Given the description of an element on the screen output the (x, y) to click on. 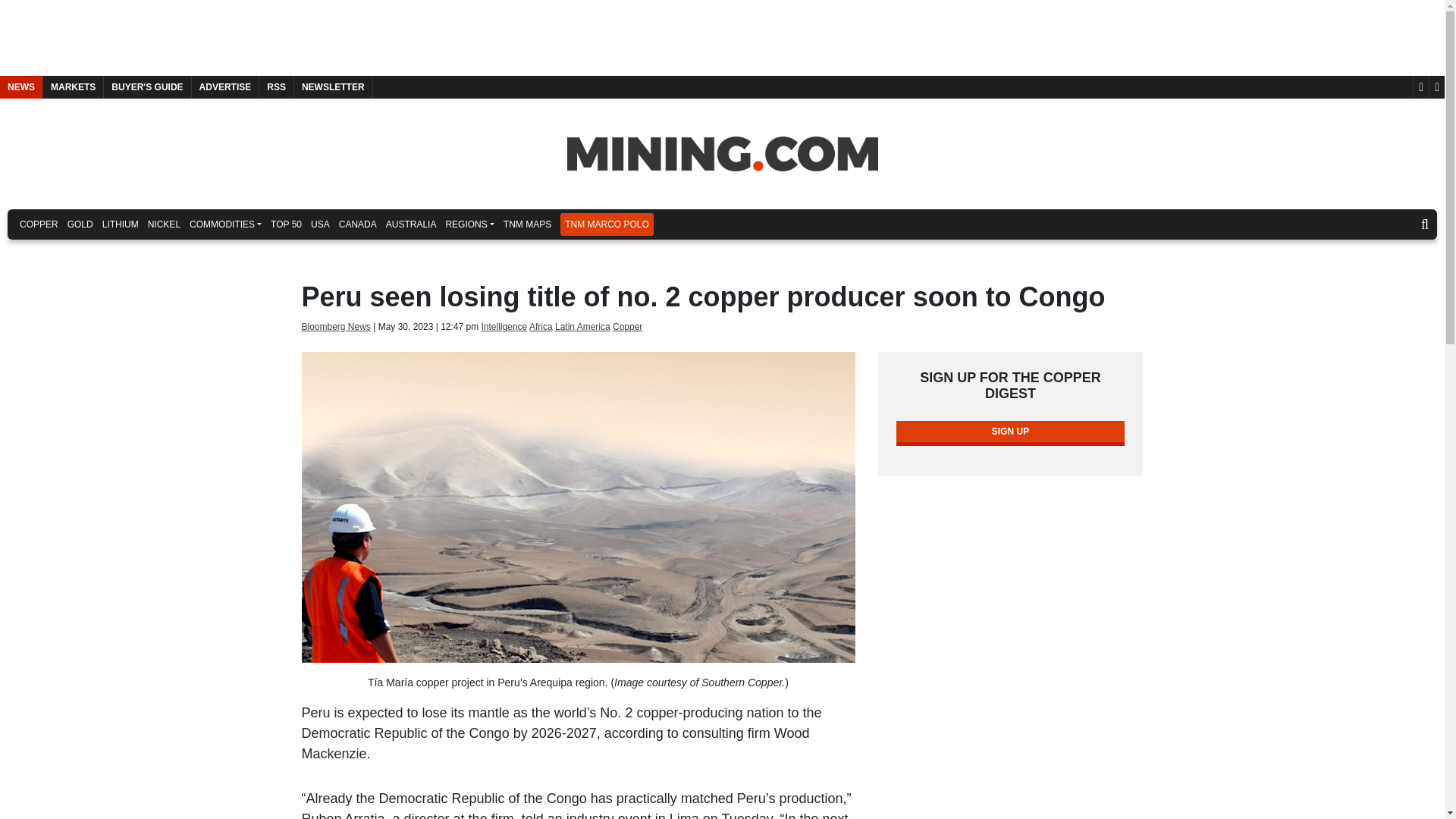
COMMODITIES (225, 224)
MARKETS (73, 87)
ADVERTISE (225, 87)
BUYER'S GUIDE (146, 87)
NEWSLETTER (333, 87)
GOLD (79, 224)
NEWS (21, 87)
RSS (276, 87)
LITHIUM (119, 224)
NICKEL (163, 224)
COPPER (38, 224)
